Given the description of an element on the screen output the (x, y) to click on. 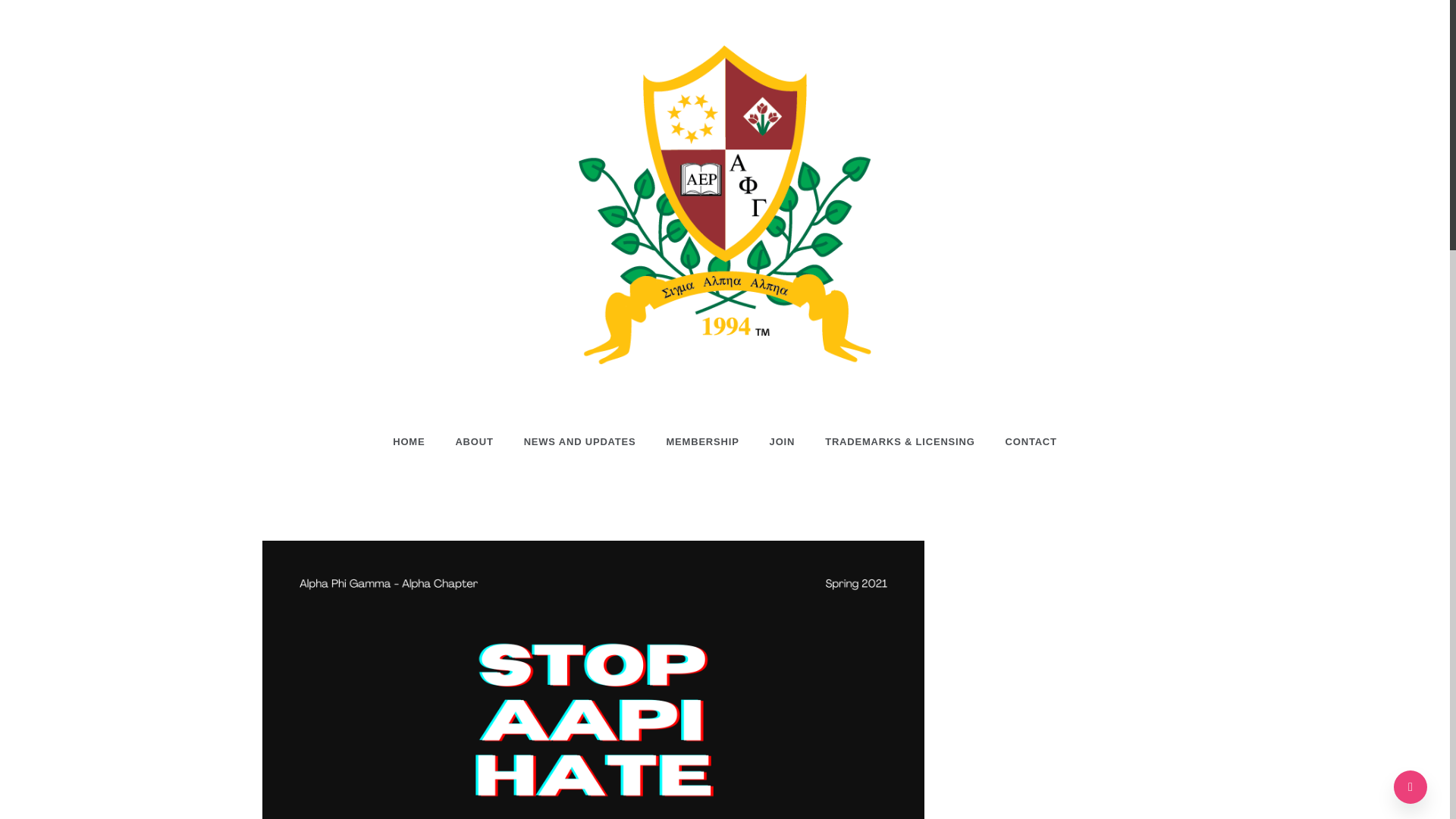
NEWS AND UPDATES (579, 442)
HOME (416, 442)
JOIN (782, 442)
ABOUT (473, 442)
MEMBERSHIP (702, 442)
Go to Top (1409, 786)
Alpha Phi Gamma National Sorority, Inc. (725, 461)
